Given the description of an element on the screen output the (x, y) to click on. 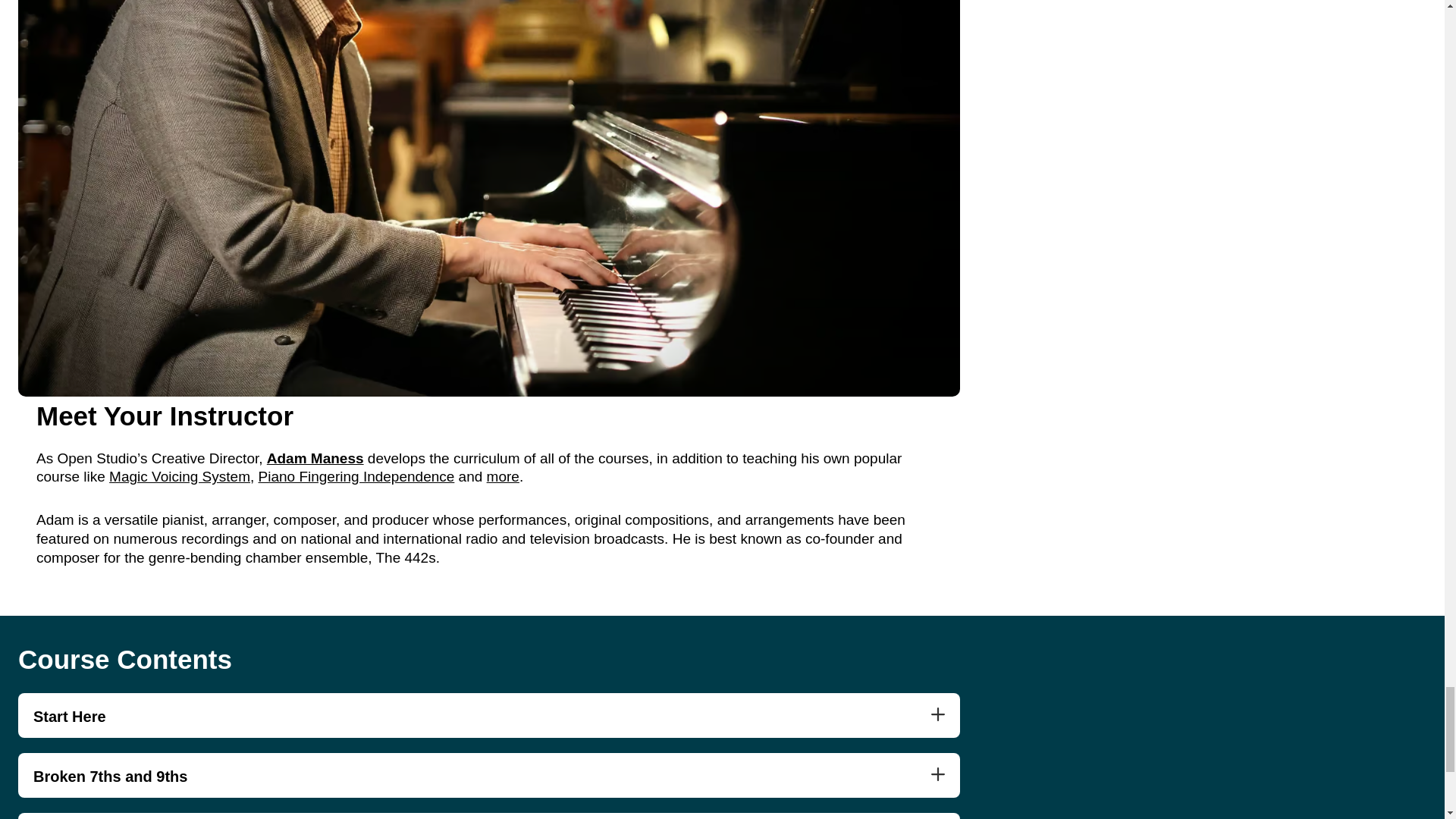
more (502, 476)
Adam Maness (315, 458)
Piano Fingering Independence (356, 476)
Magic Voicing System (179, 476)
